Given the description of an element on the screen output the (x, y) to click on. 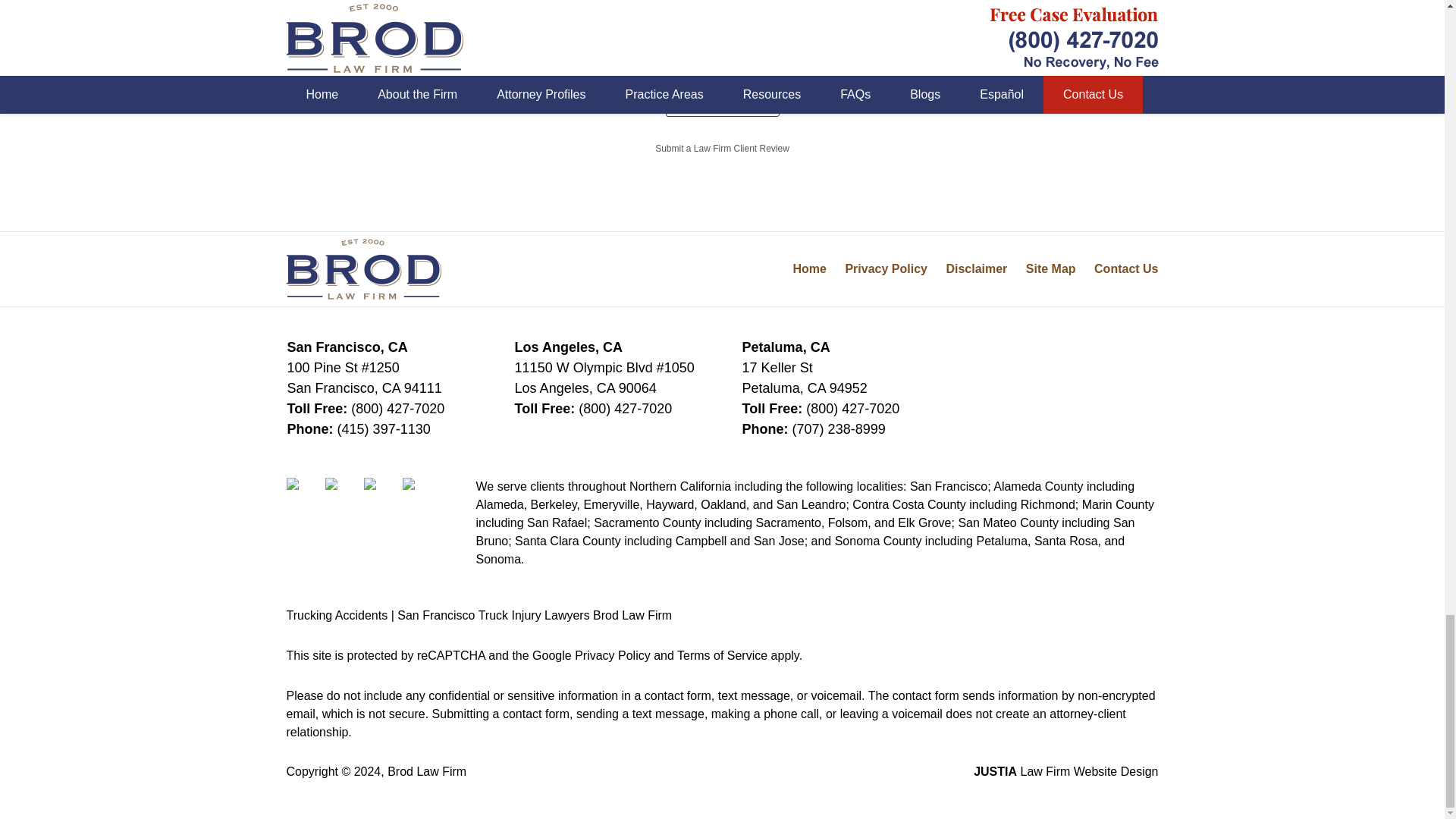
Justia (420, 494)
Twitter (341, 494)
Facebook (303, 494)
LinkedIn (381, 494)
